Given the description of an element on the screen output the (x, y) to click on. 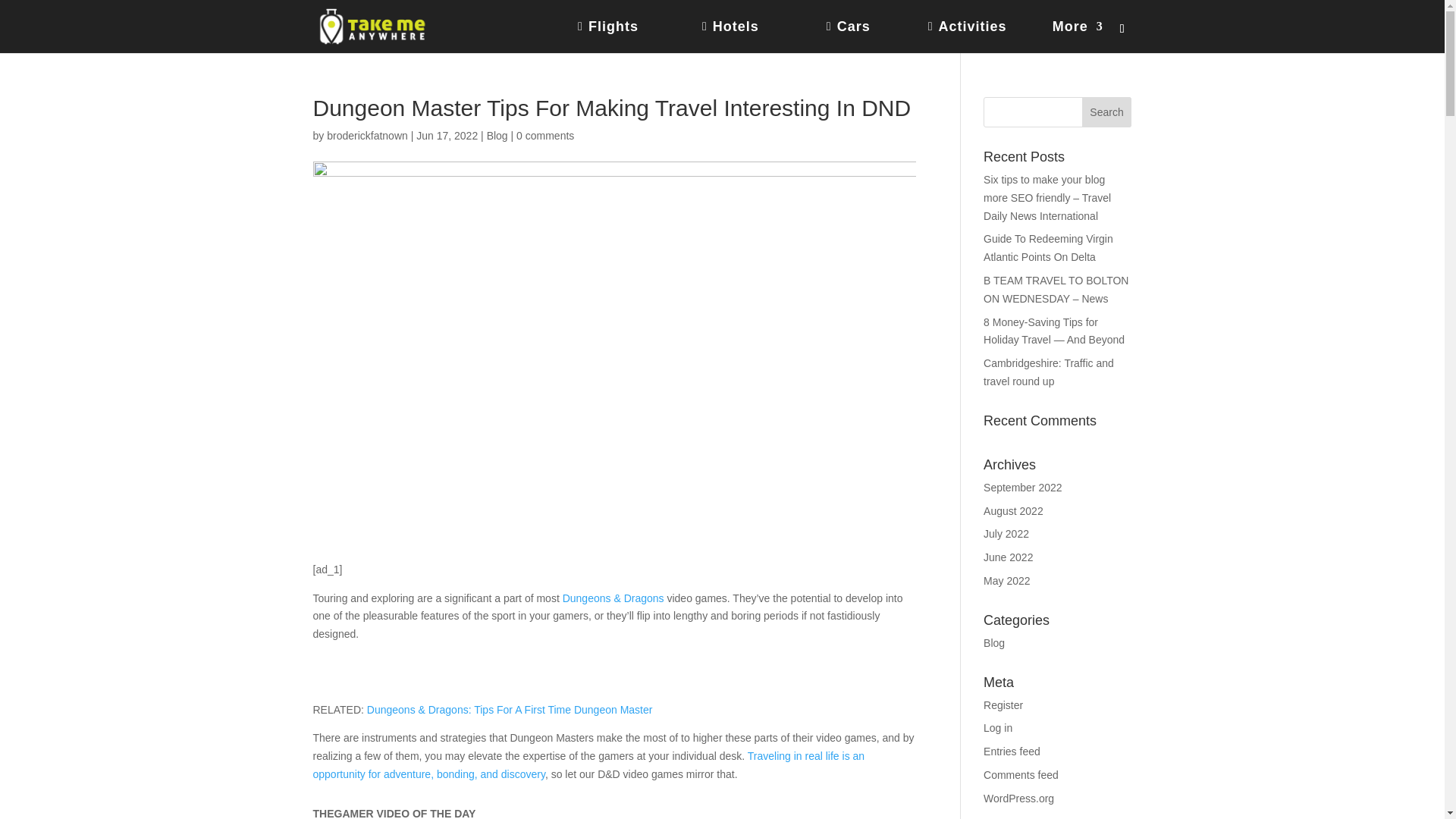
More (1077, 37)
Flights (630, 37)
0 comments (544, 135)
Cars (867, 37)
Hotels (753, 37)
Blog (497, 135)
broderickfatnown (366, 135)
Search (1106, 112)
Posts by broderickfatnown (366, 135)
